Given the description of an element on the screen output the (x, y) to click on. 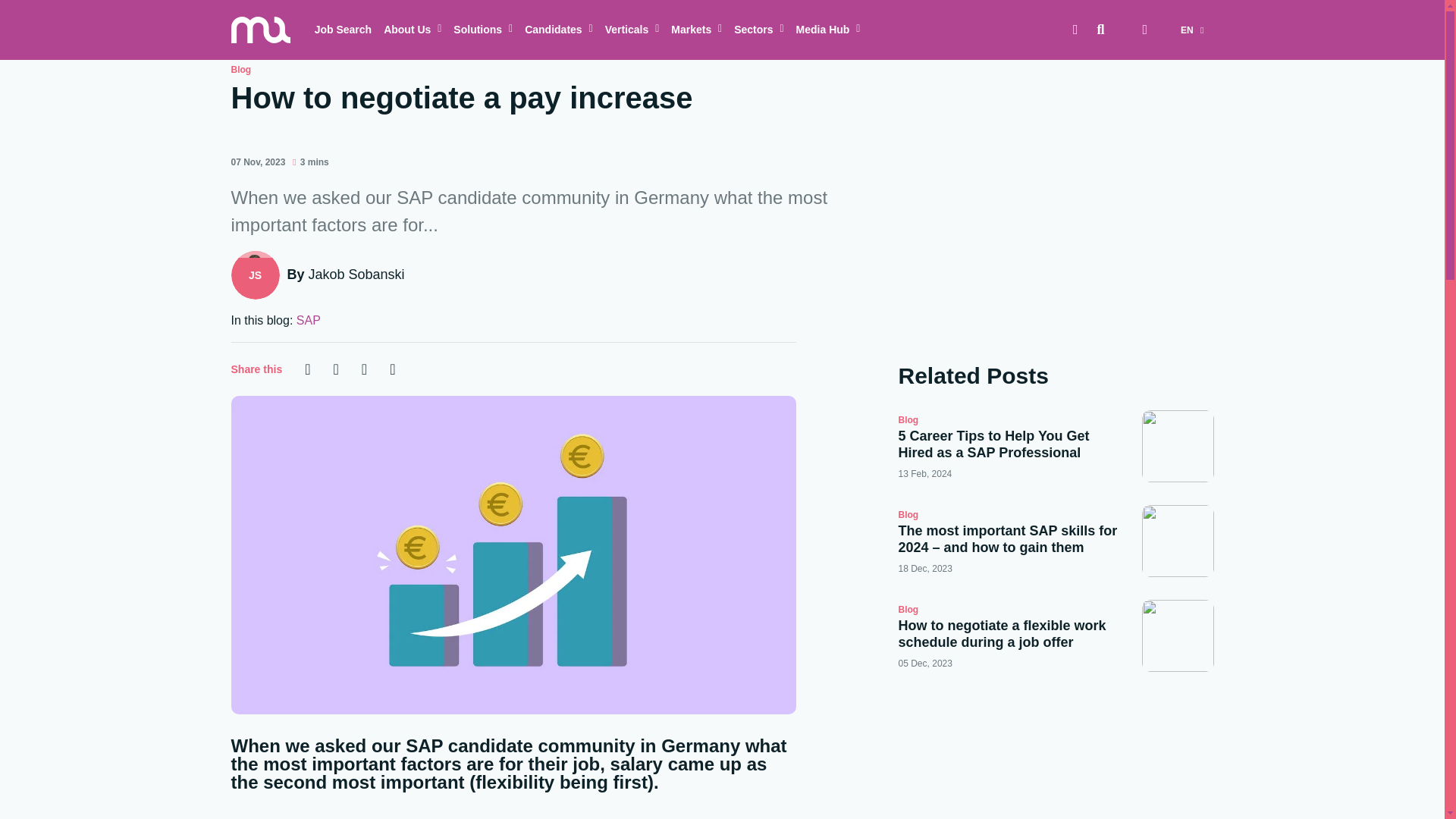
Solutions (482, 29)
Job Search (342, 29)
Candidates (558, 29)
Verticals (631, 29)
Markets (696, 29)
About Us (411, 29)
